Given the description of an element on the screen output the (x, y) to click on. 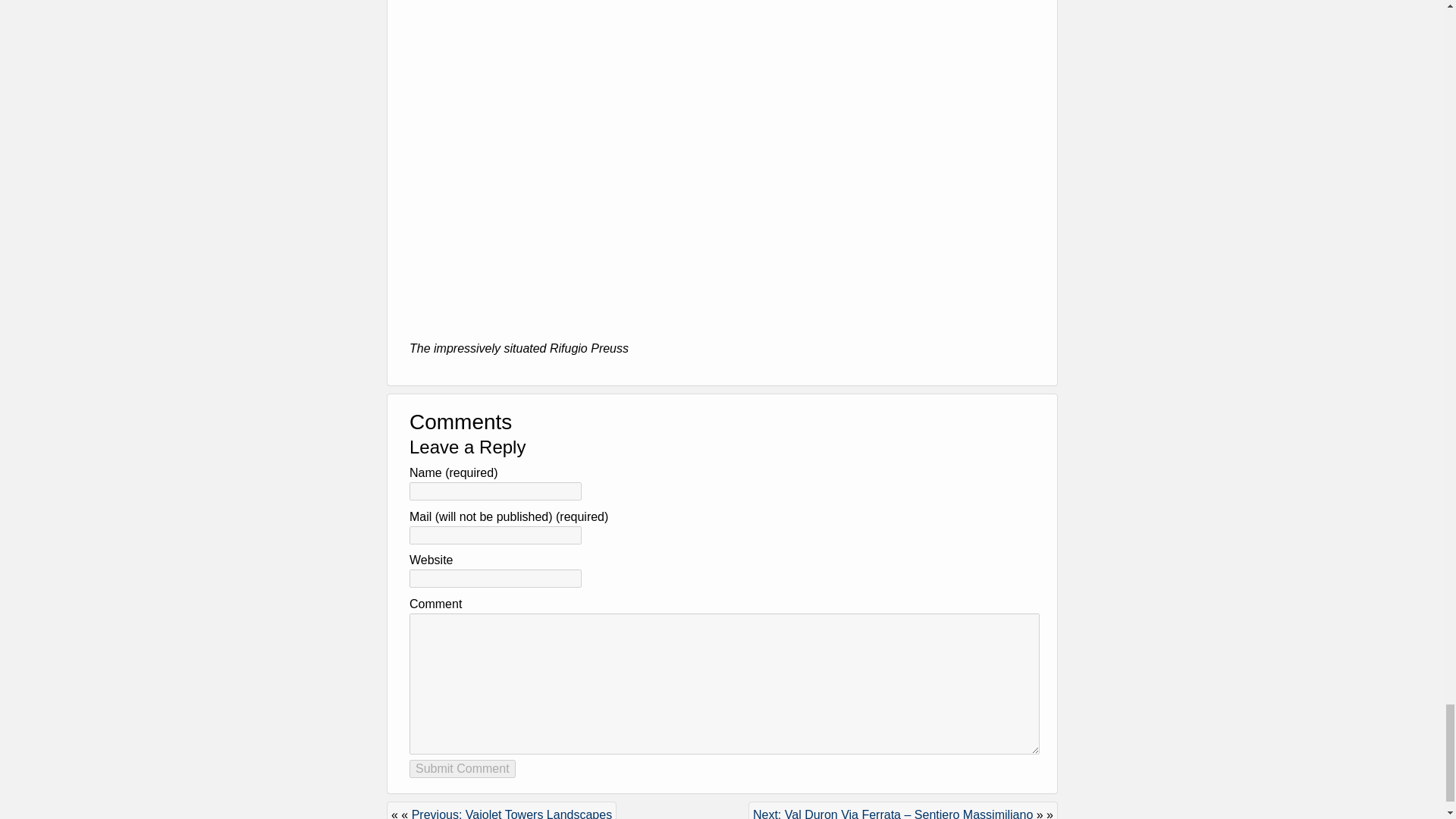
Submit Comment (462, 769)
